Given the description of an element on the screen output the (x, y) to click on. 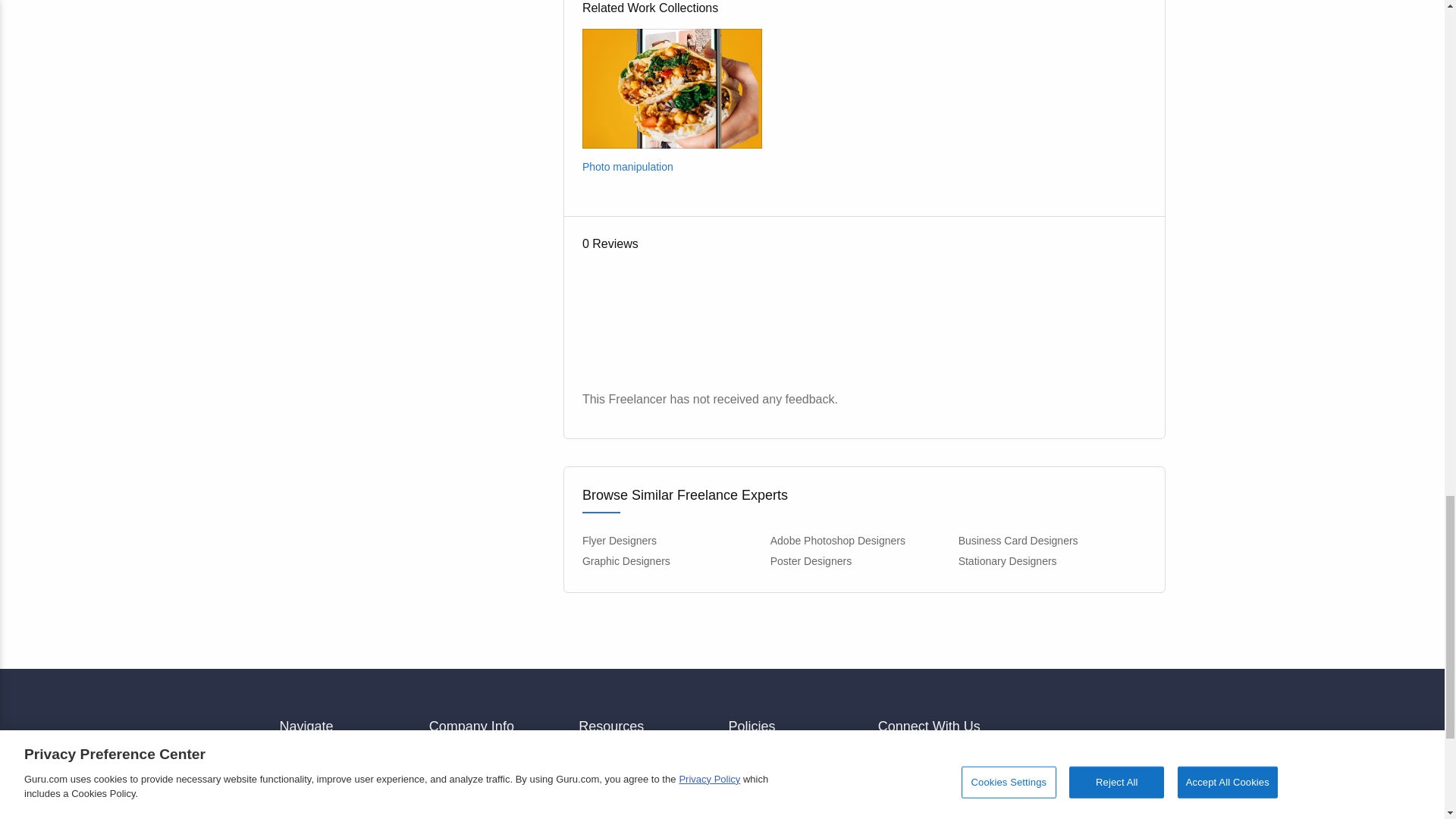
Home (347, 756)
Connect with Guru on X (929, 764)
Post a Job (347, 785)
Find a Freelancer (347, 812)
Connect with Guru on Facebook (893, 764)
Connect with Guru on LinkedIn (965, 764)
